Given the description of an element on the screen output the (x, y) to click on. 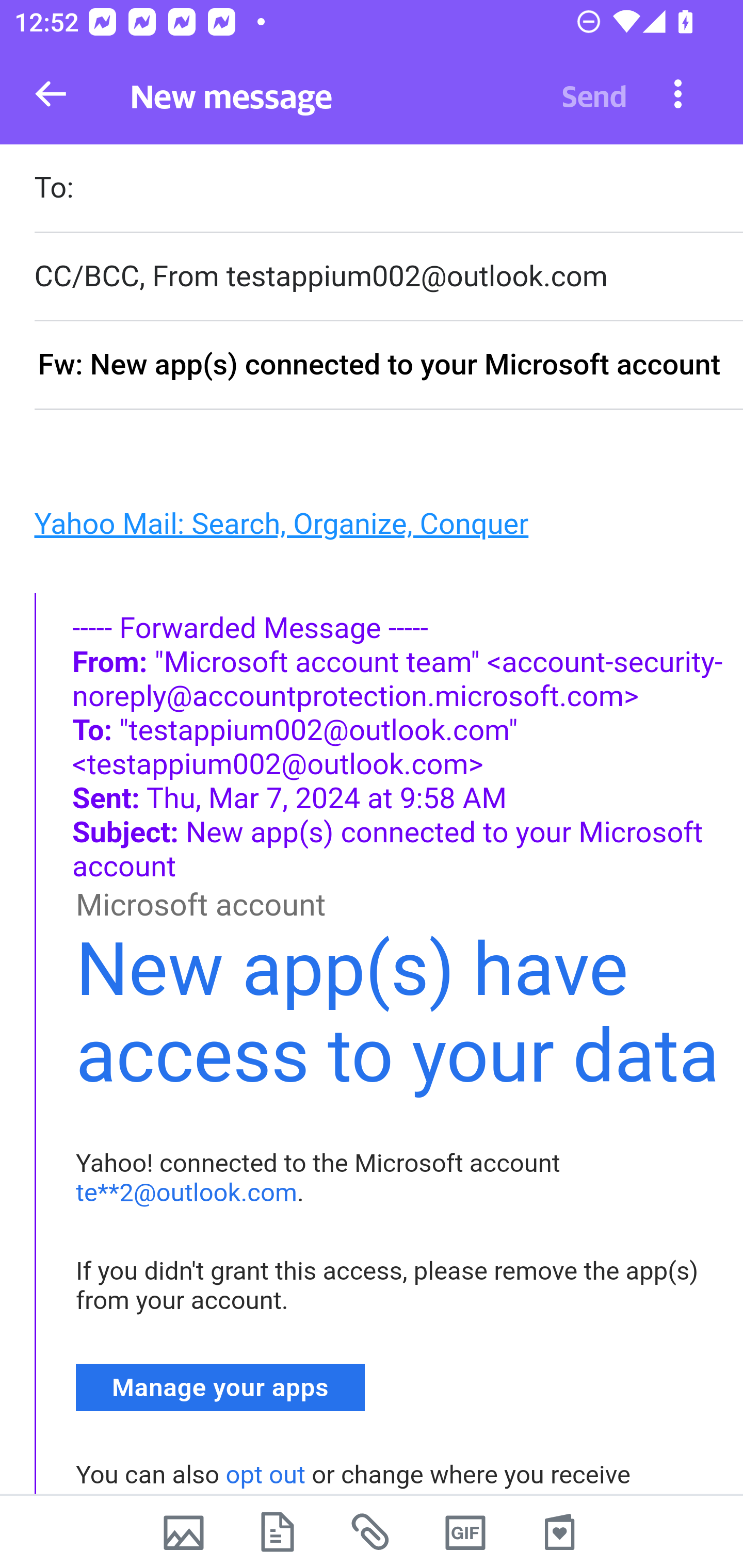
Back (50, 93)
Send (594, 93)
More options (677, 93)
To: (387, 189)
CC/BCC, From testappium002@outlook.com (387, 276)
Fw: New app(s) connected to your Microsoft account (387, 365)
Yahoo Mail: Search, Organize, Conquer (280, 522)
te**2@outlook.com (186, 1192)
Manage your apps (220, 1386)
opt out (264, 1474)
Camera photos (183, 1531)
Device files (277, 1531)
Recent attachments from mail (371, 1531)
GIFs (465, 1531)
Stationery (559, 1531)
